Given the description of an element on the screen output the (x, y) to click on. 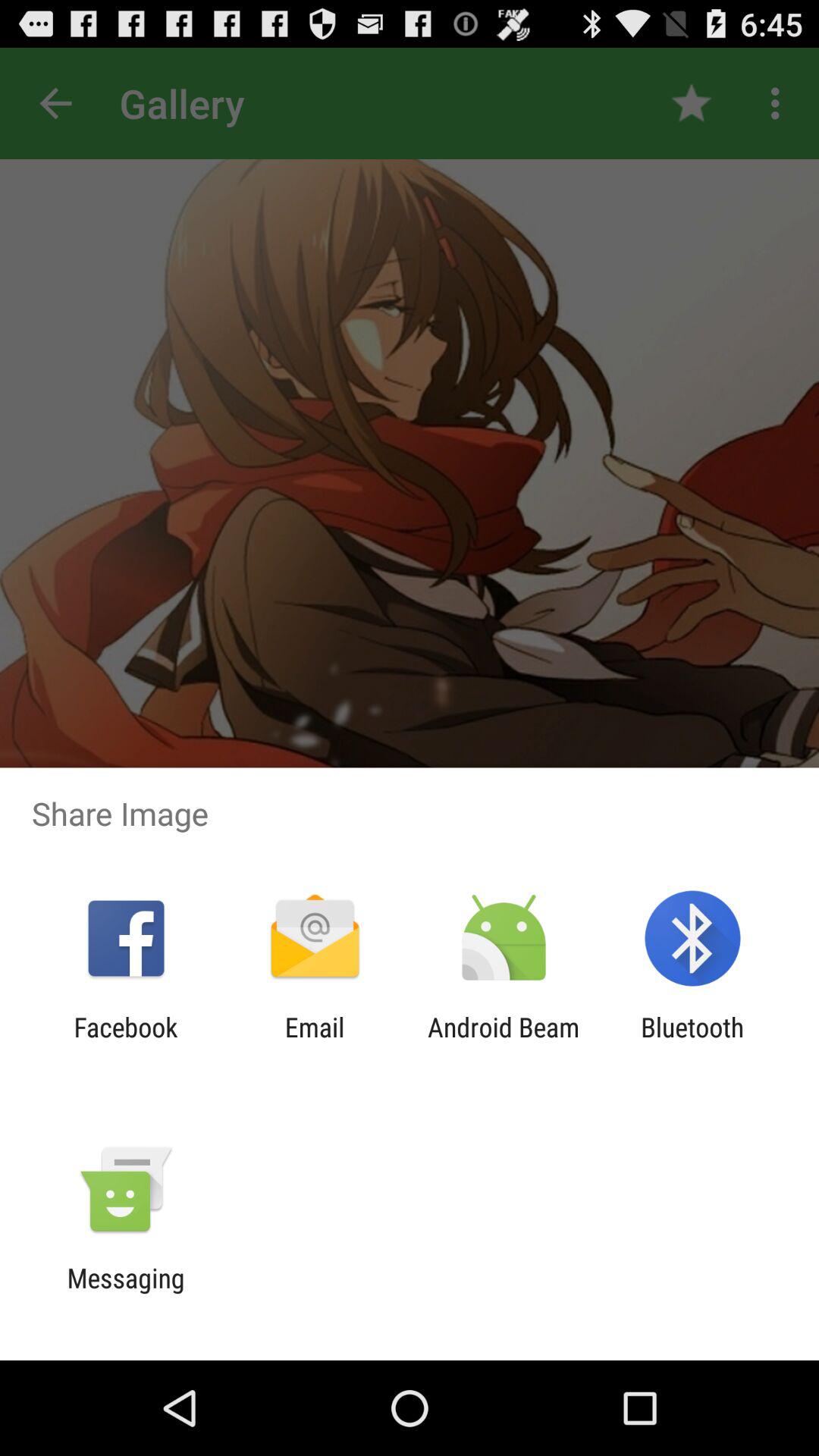
click the icon to the right of the android beam icon (691, 1042)
